Given the description of an element on the screen output the (x, y) to click on. 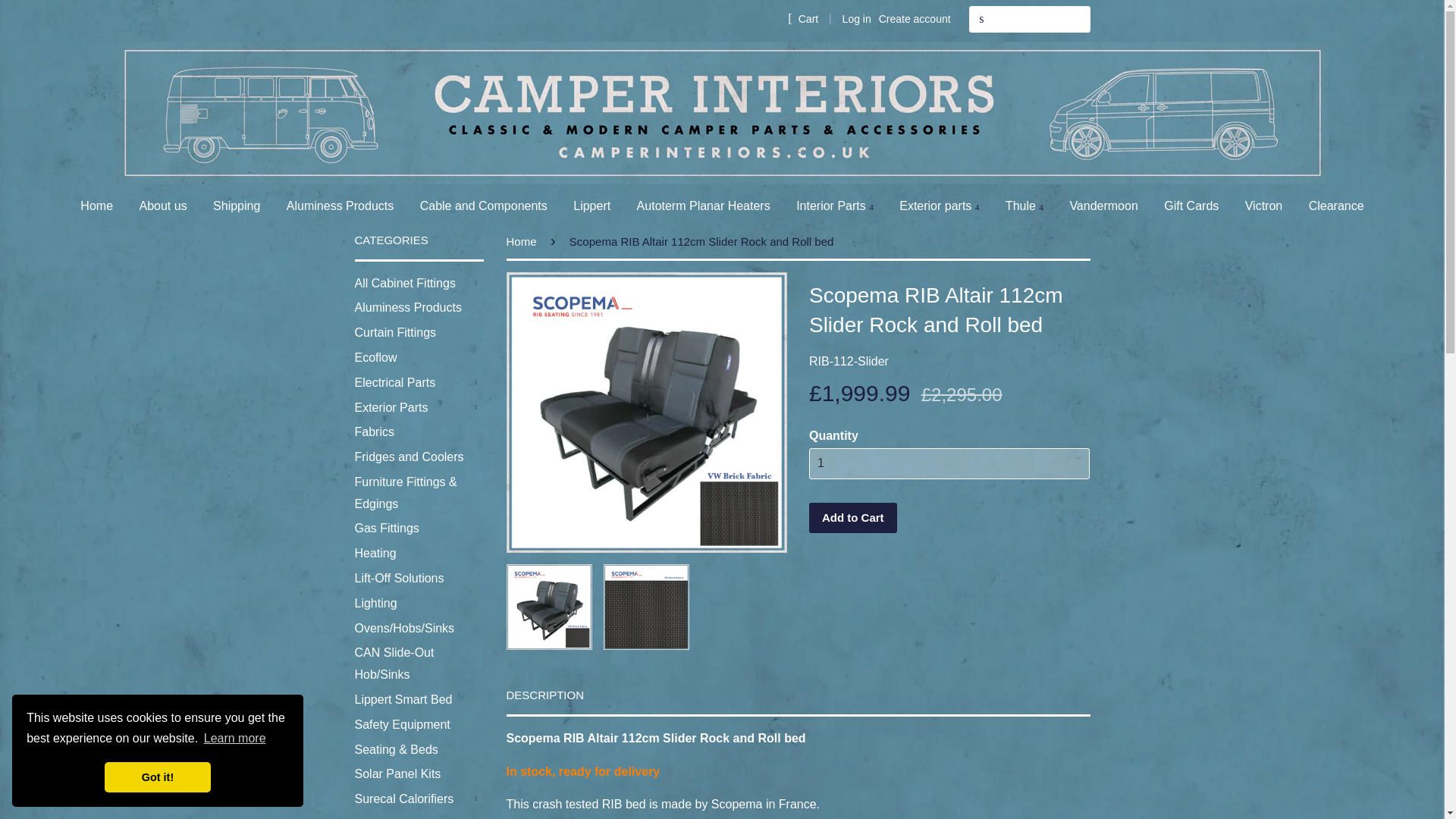
Back to the frontpage (523, 241)
Log in (856, 19)
1 (949, 463)
Create account (914, 19)
Cart (802, 18)
Search (980, 18)
Learn more (234, 738)
Got it! (157, 777)
